Given the description of an element on the screen output the (x, y) to click on. 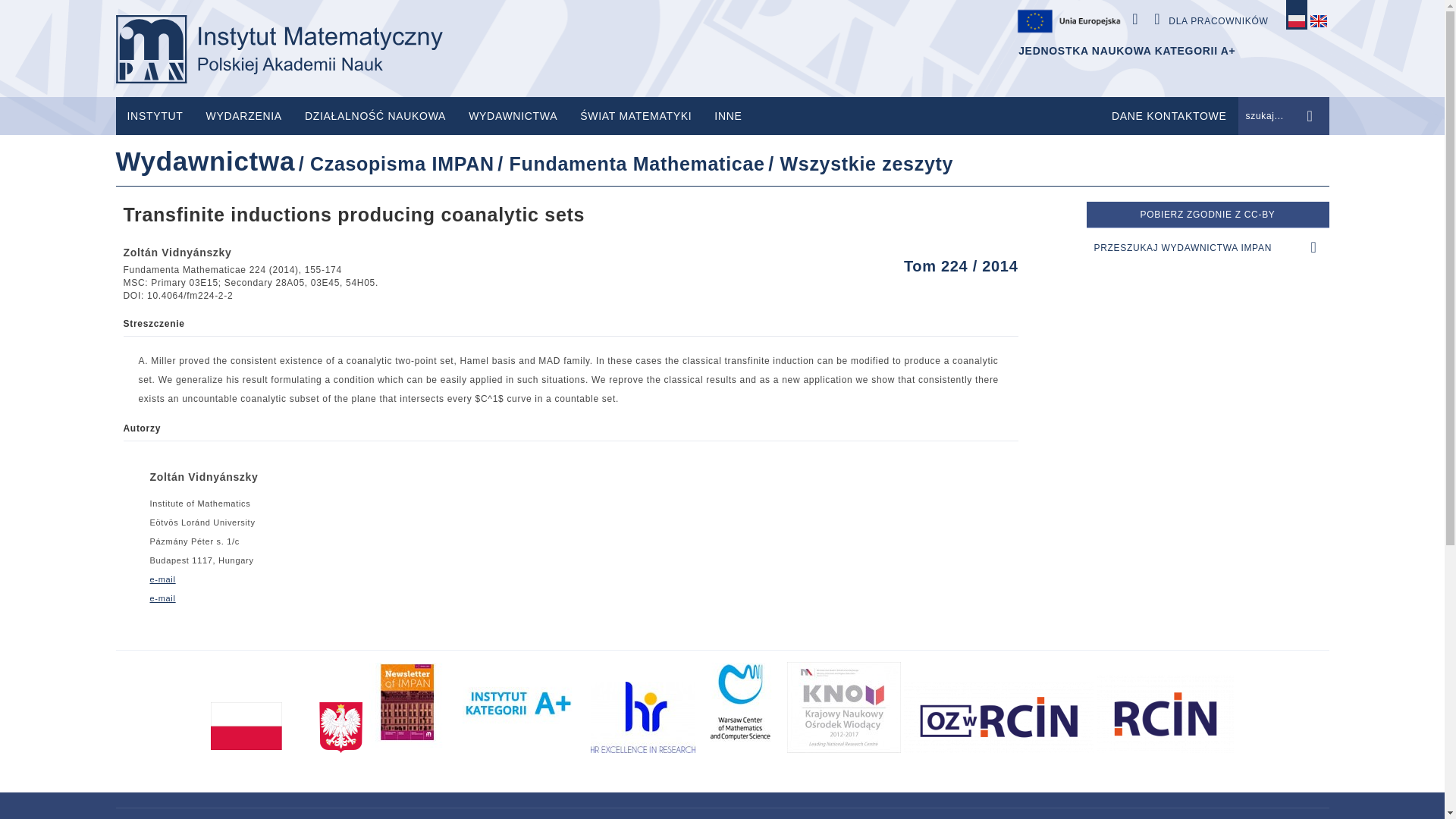
WYDARZENIA (244, 116)
IMPAN (278, 49)
logo (278, 49)
WYDAWNICTWA (513, 116)
INSTYTUT (154, 116)
